Given the description of an element on the screen output the (x, y) to click on. 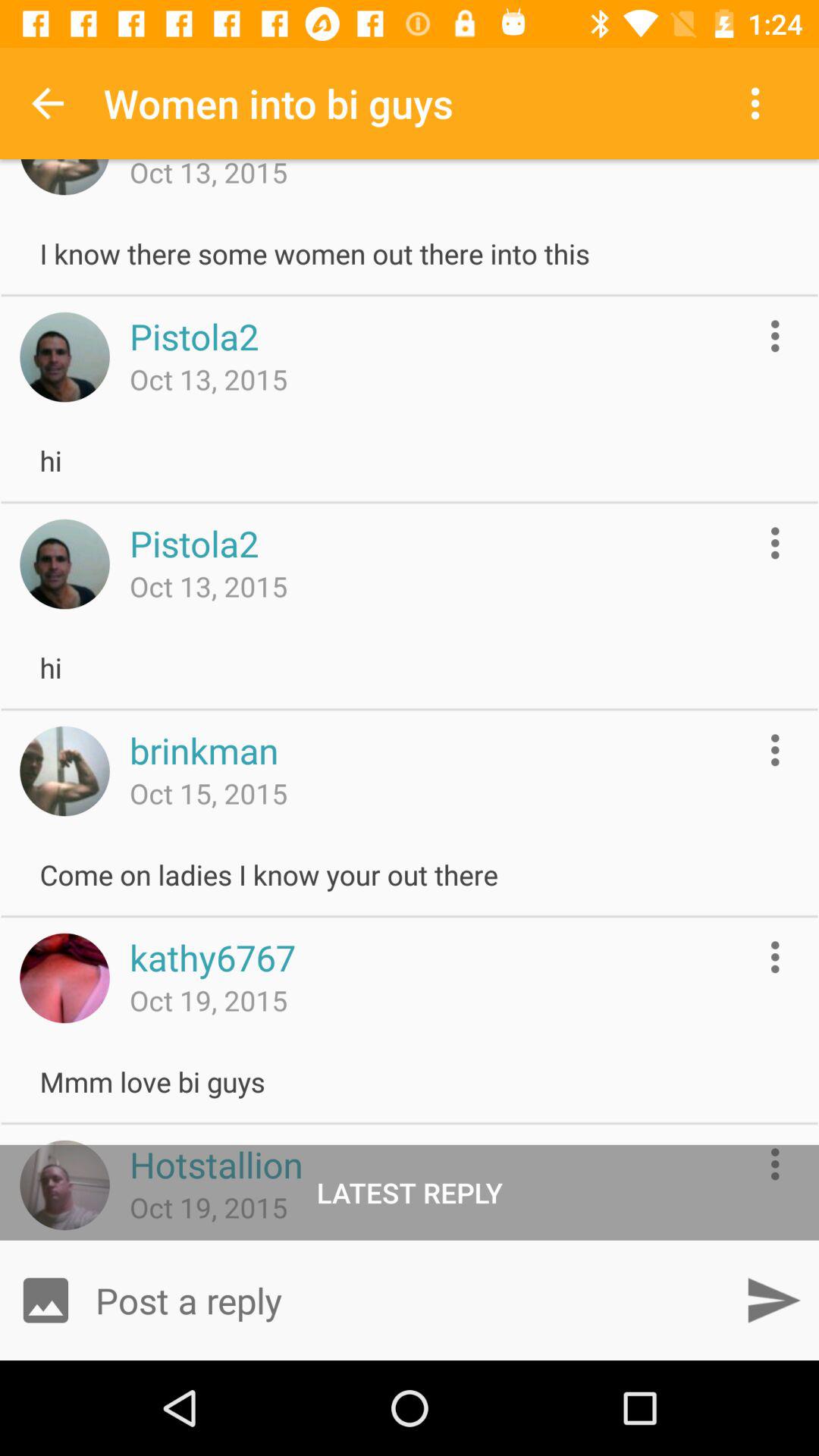
choose the item above the oct 19, 2015 icon (216, 1164)
